Given the description of an element on the screen output the (x, y) to click on. 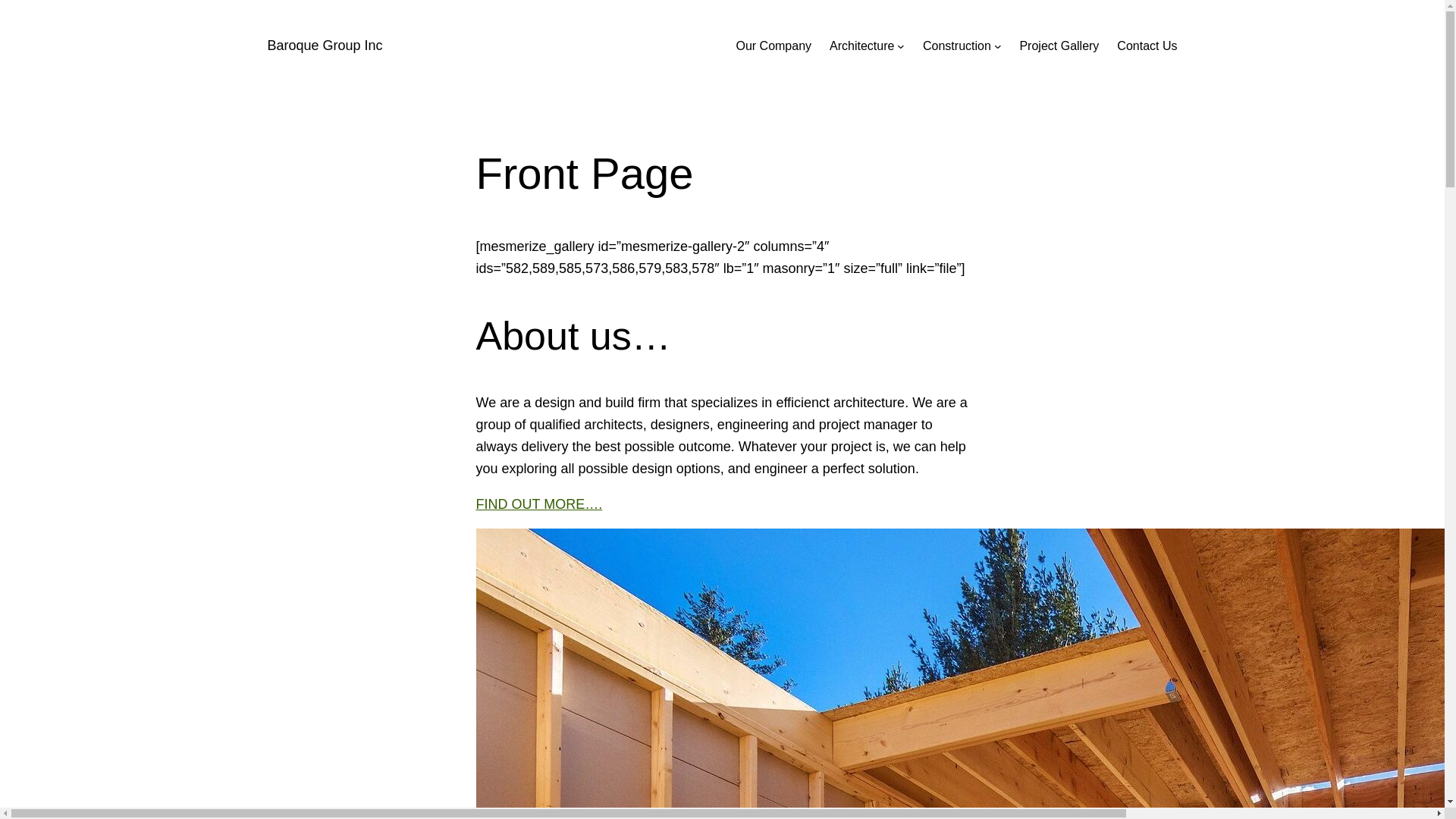
Our Company Element type: text (773, 46)
Contact Us Element type: text (1146, 46)
Architecture Element type: text (861, 46)
Construction Element type: text (956, 46)
Project Gallery Element type: text (1058, 46)
Baroque Group Inc Element type: text (324, 45)
